Given the description of an element on the screen output the (x, y) to click on. 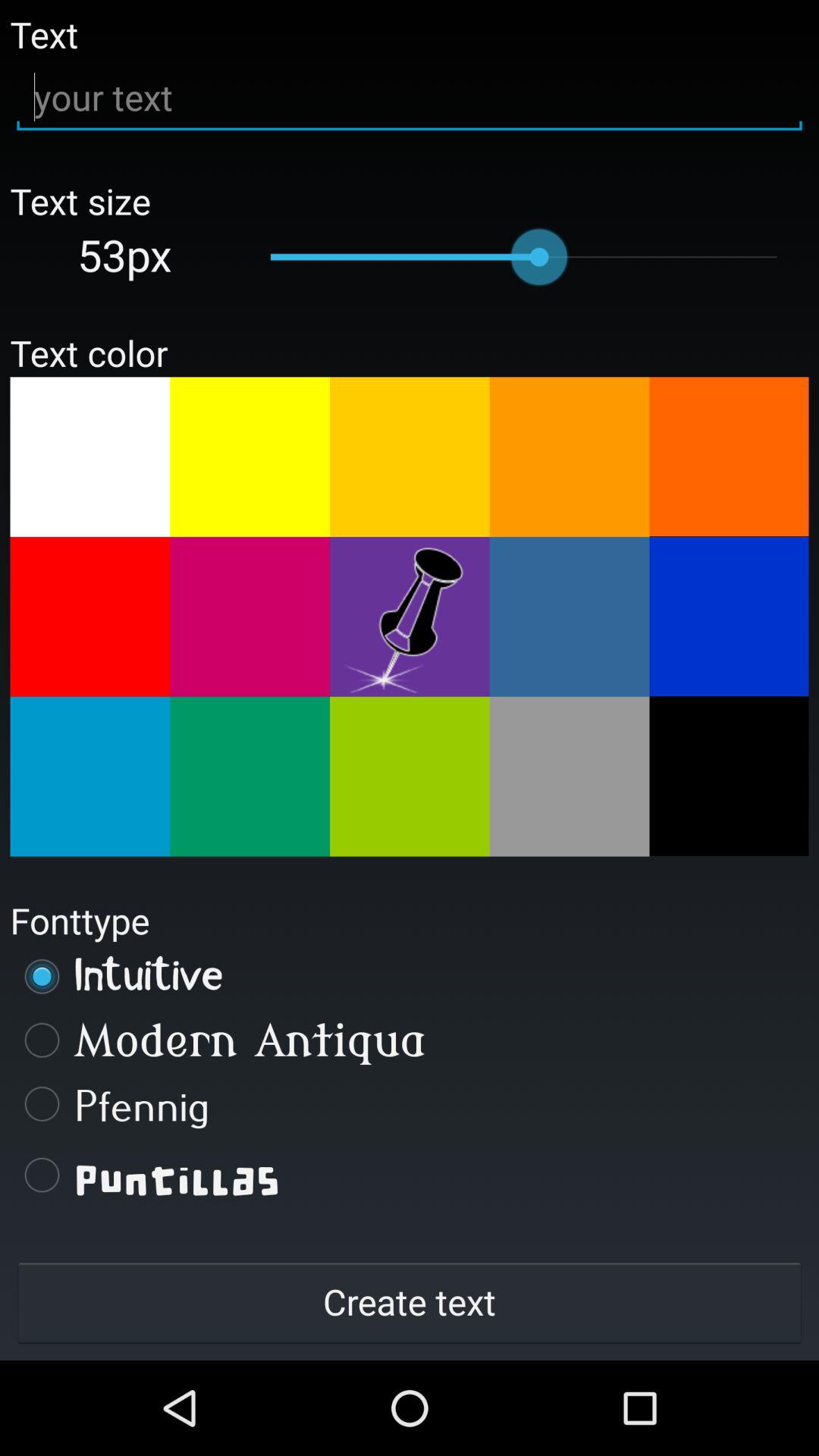
change text color to orange (569, 456)
